Given the description of an element on the screen output the (x, y) to click on. 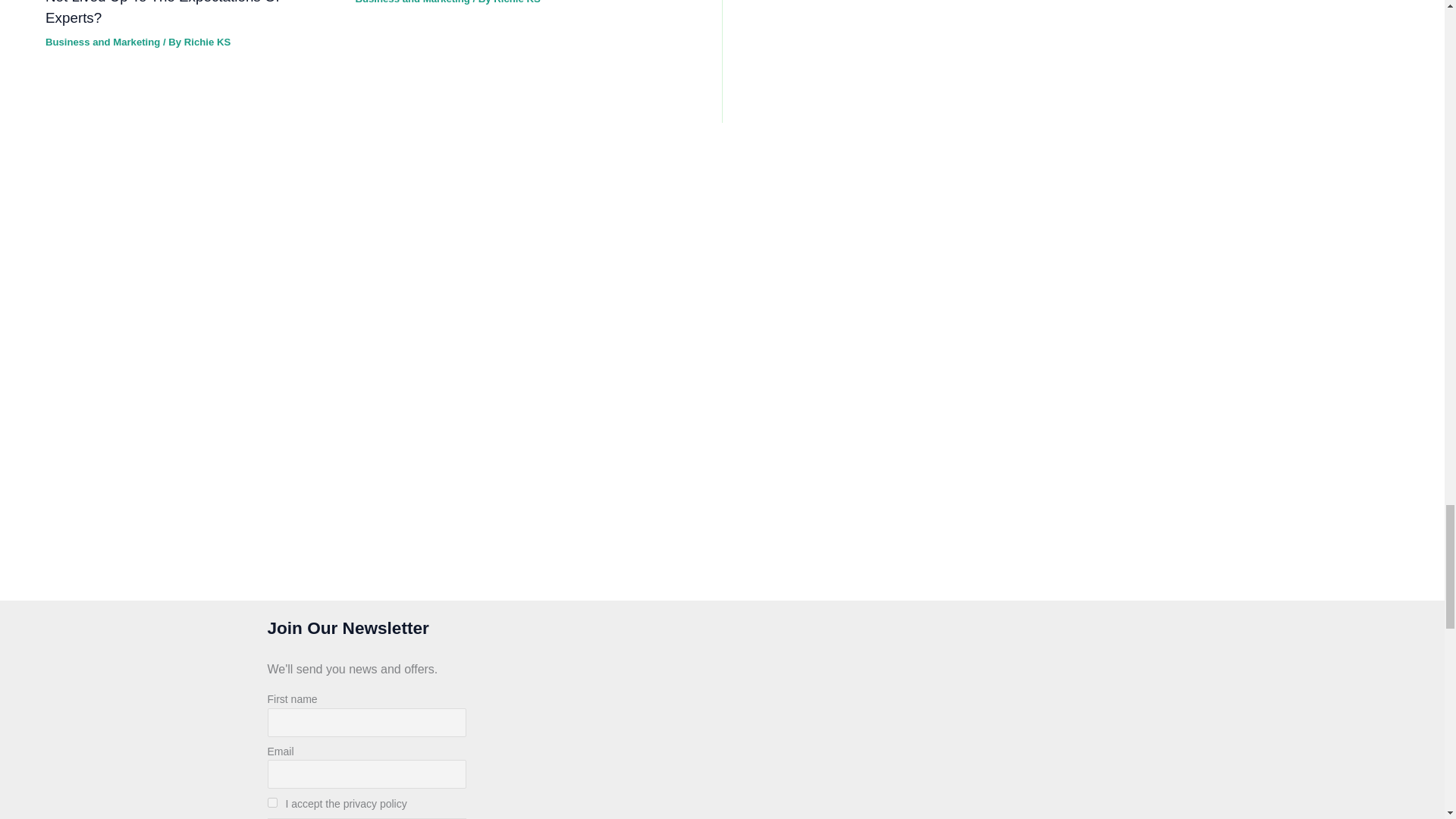
on (271, 802)
